Given the description of an element on the screen output the (x, y) to click on. 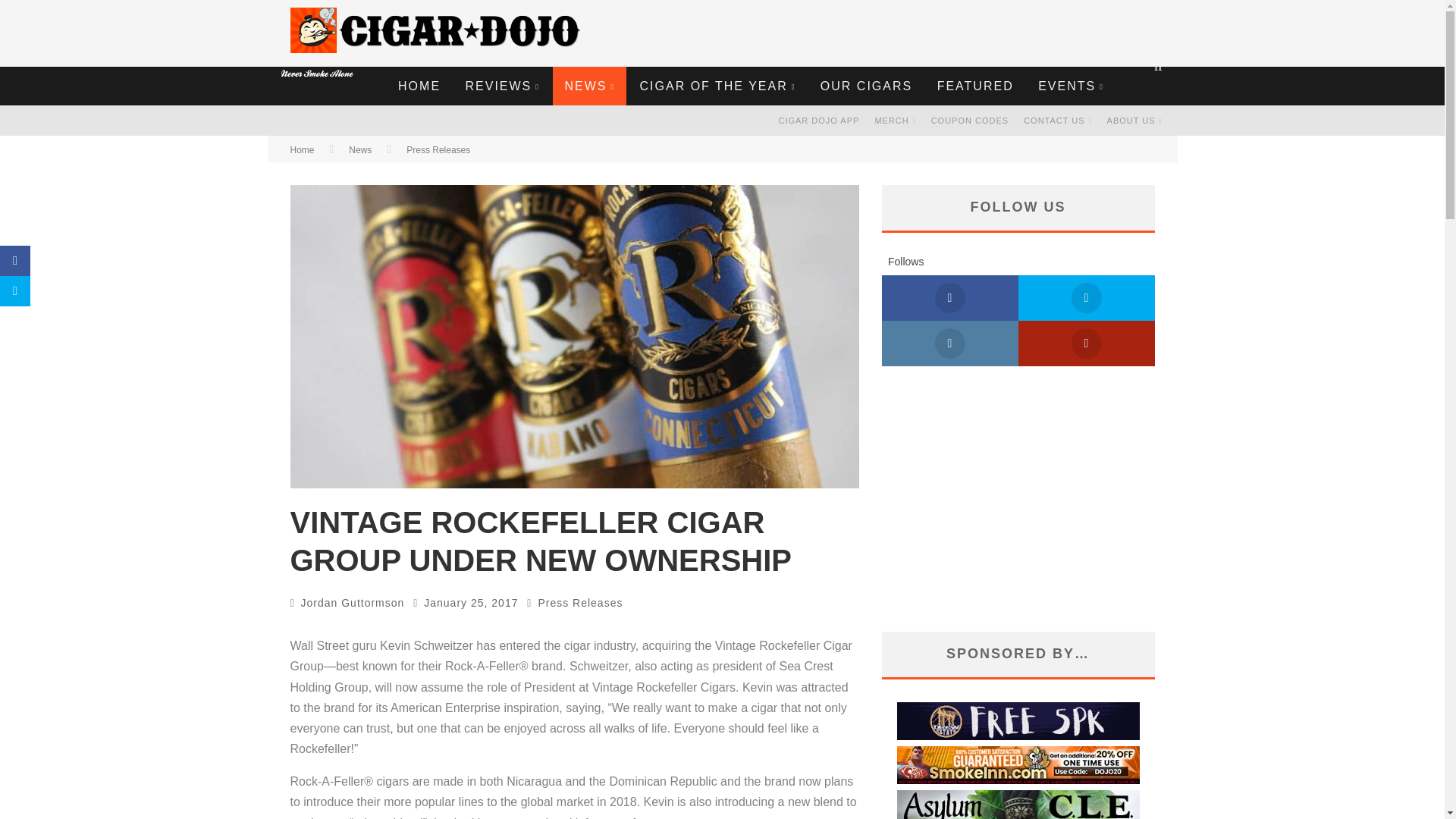
NEWS (589, 85)
View all posts in News (360, 149)
View all posts in Press Releases (438, 149)
REVIEWS (501, 85)
HOME (419, 85)
View all posts in Press Releases (580, 603)
